Given the description of an element on the screen output the (x, y) to click on. 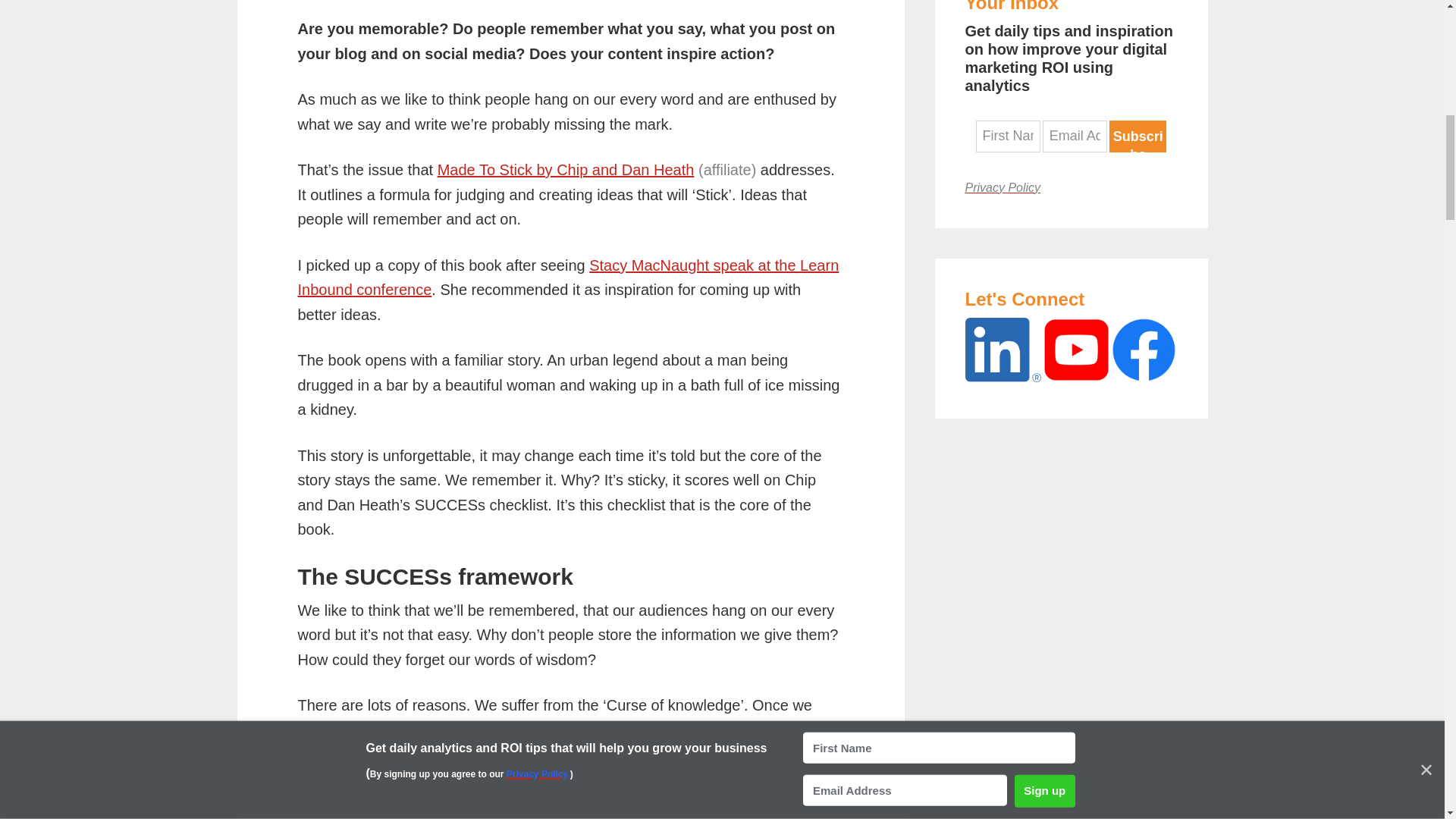
Stacy MacNaught speak at the Learn Inbound conference (567, 277)
Made To Stick by Chip and Dan Heath (566, 169)
